Given the description of an element on the screen output the (x, y) to click on. 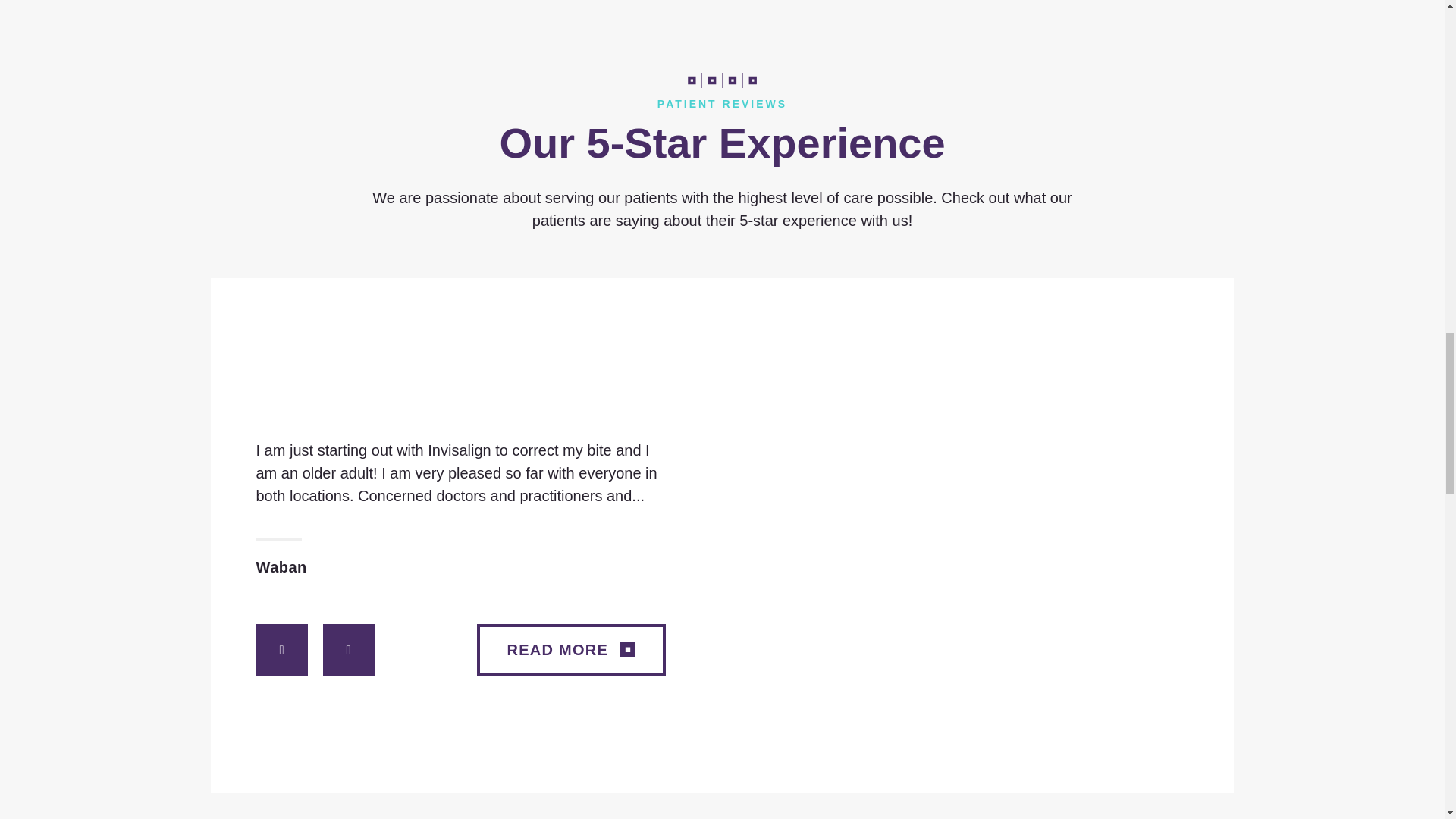
Waban (461, 557)
